Given the description of an element on the screen output the (x, y) to click on. 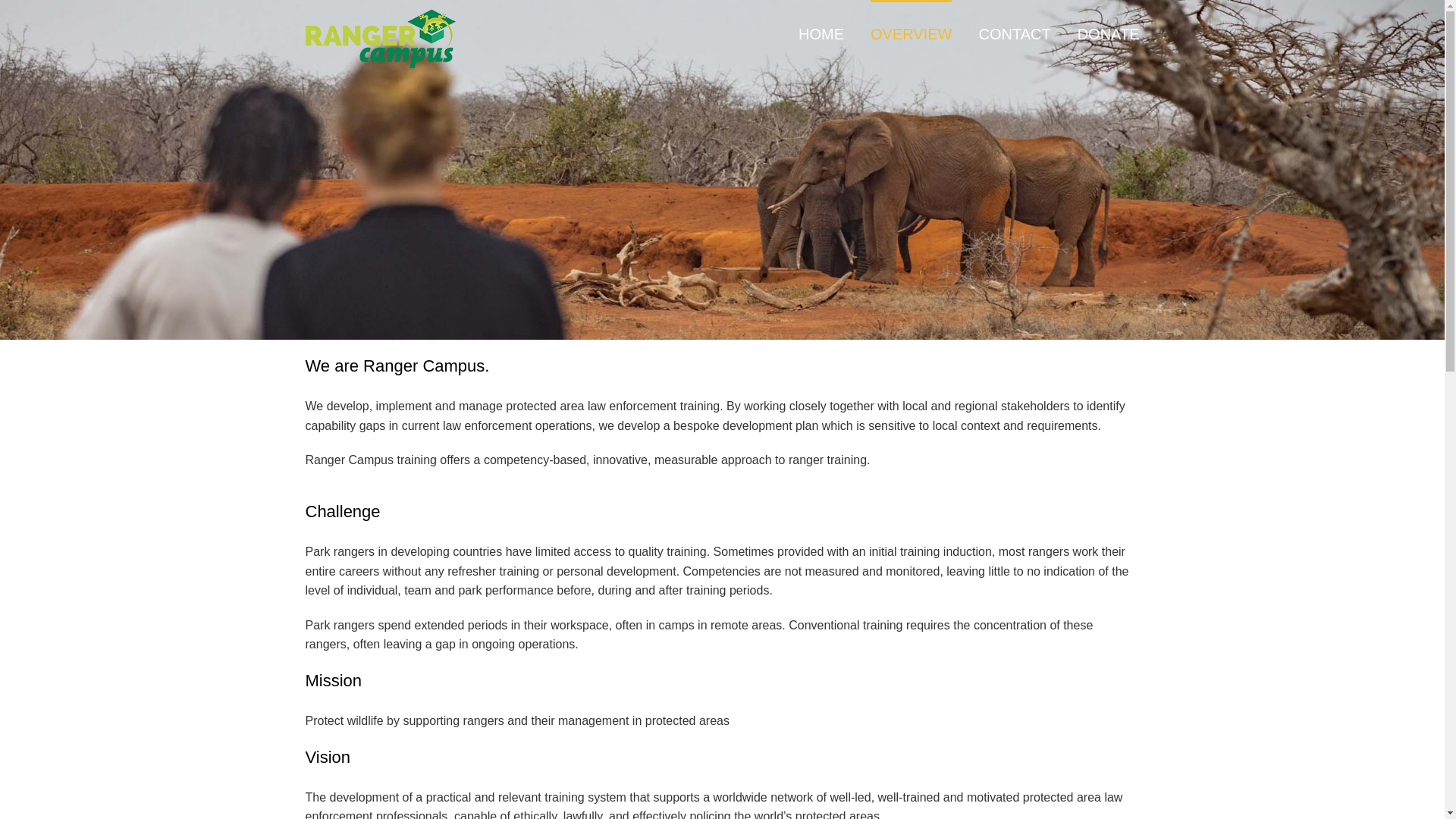
DONATE (1108, 32)
OVERVIEW (911, 32)
CONTACT (1013, 32)
